Given the description of an element on the screen output the (x, y) to click on. 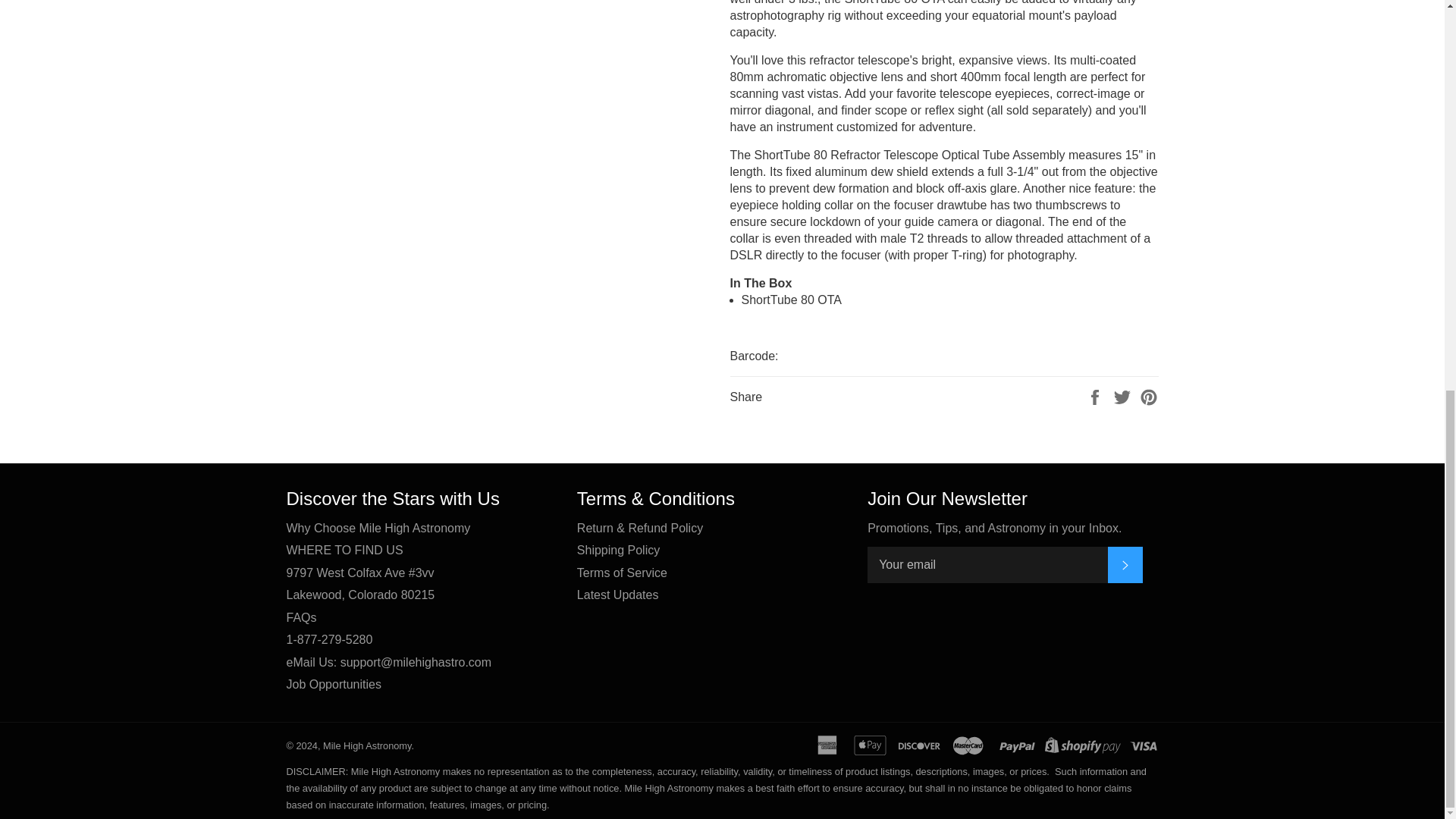
Pin on Pinterest (1148, 395)
Tweet on Twitter (1123, 395)
Share on Facebook (1096, 395)
